Given the description of an element on the screen output the (x, y) to click on. 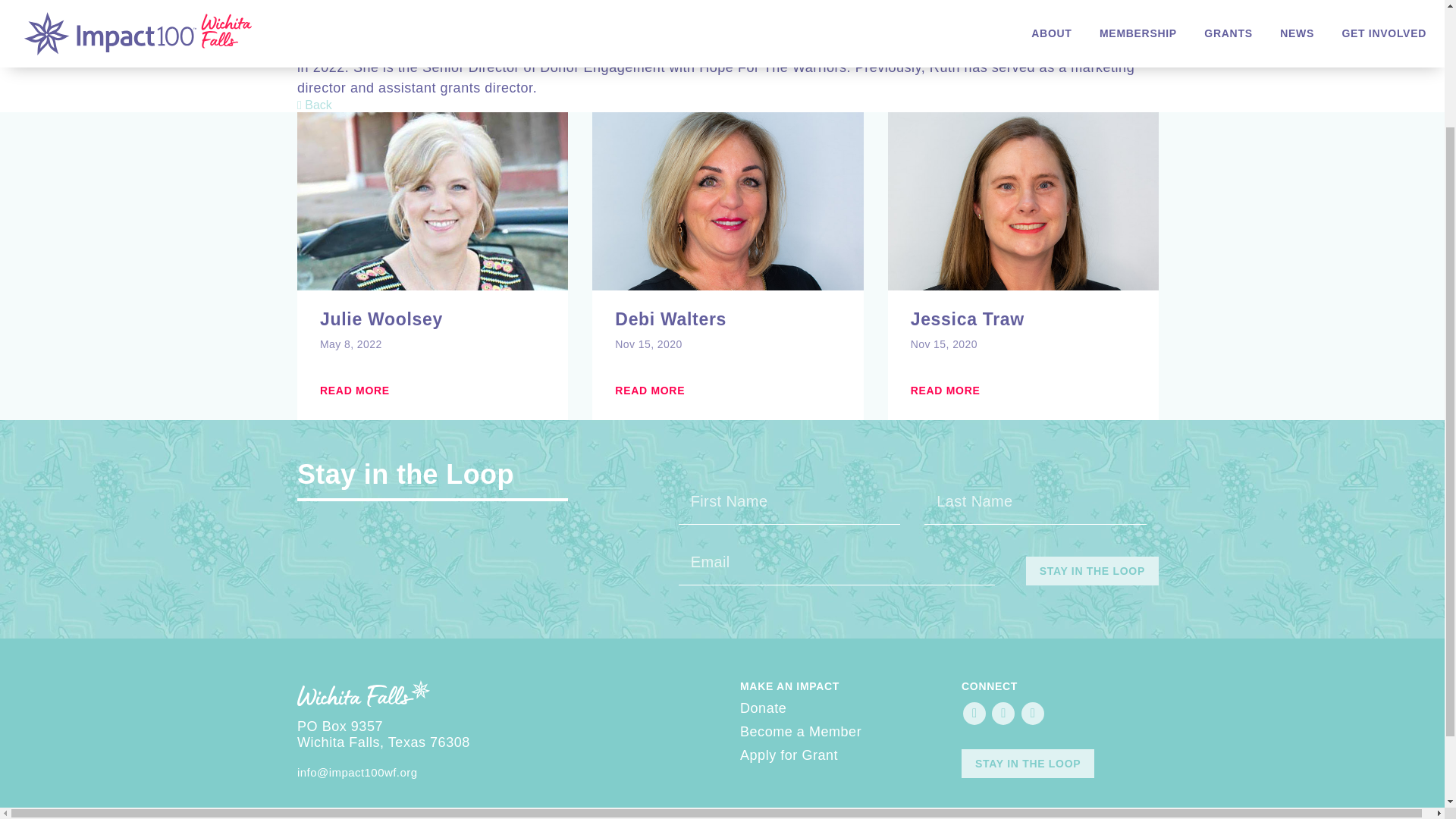
Julie Woolsey (432, 320)
Become a Member (800, 731)
STAY IN THE LOOP (1027, 763)
READ MORE (649, 390)
Jessica Traw (1023, 320)
Stay in the Loop (1092, 570)
Apply for Grant (788, 754)
Donate (762, 708)
READ MORE (945, 390)
Stay in the Loop (1092, 570)
READ MORE (355, 390)
Debi Walters (727, 320)
